Given the description of an element on the screen output the (x, y) to click on. 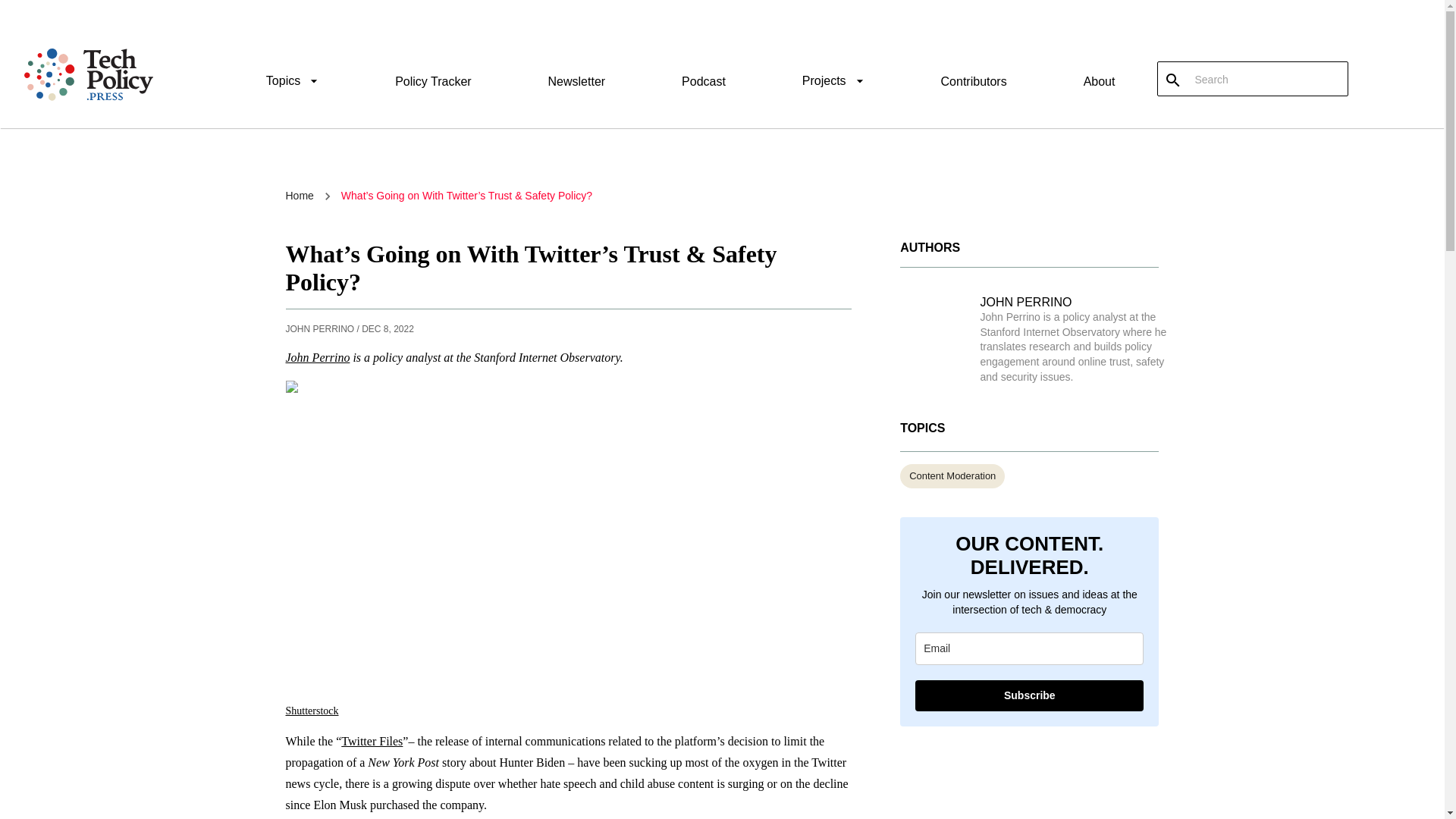
Policy Tracker (432, 81)
Shutterstock (311, 710)
Projects (833, 83)
About (1099, 81)
Newsletter (576, 81)
Topics (292, 83)
John Perrino (317, 357)
Podcast (703, 81)
Contributors (973, 81)
Twitter Files (371, 740)
